Given the description of an element on the screen output the (x, y) to click on. 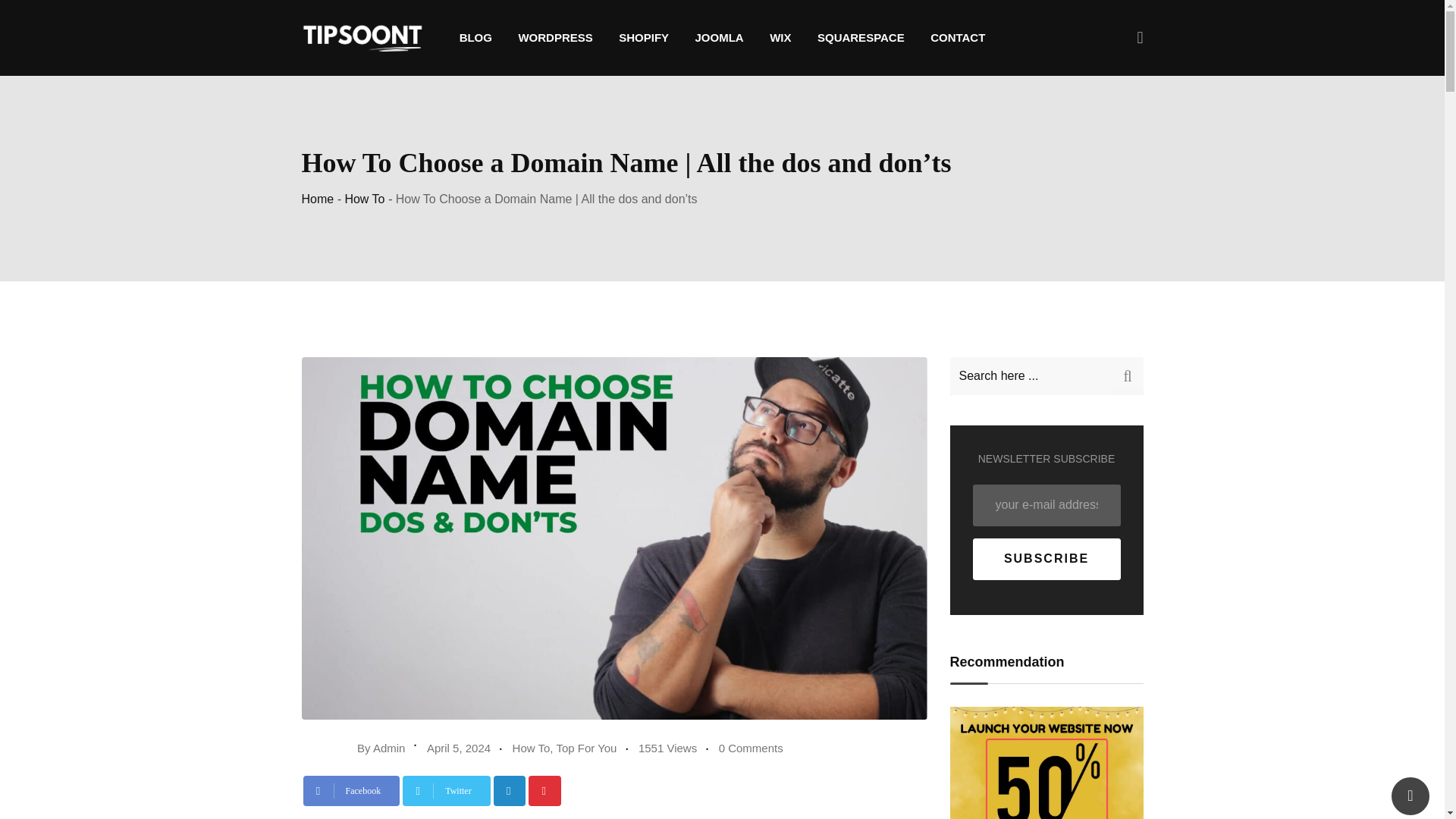
Home (317, 198)
CONTACT (956, 37)
JOOMLA (719, 37)
Admin (389, 748)
WORDPRESS (555, 37)
SQUARESPACE (860, 37)
How To (531, 748)
How To (363, 198)
SHOPIFY (643, 37)
BLOG (475, 37)
